Given the description of an element on the screen output the (x, y) to click on. 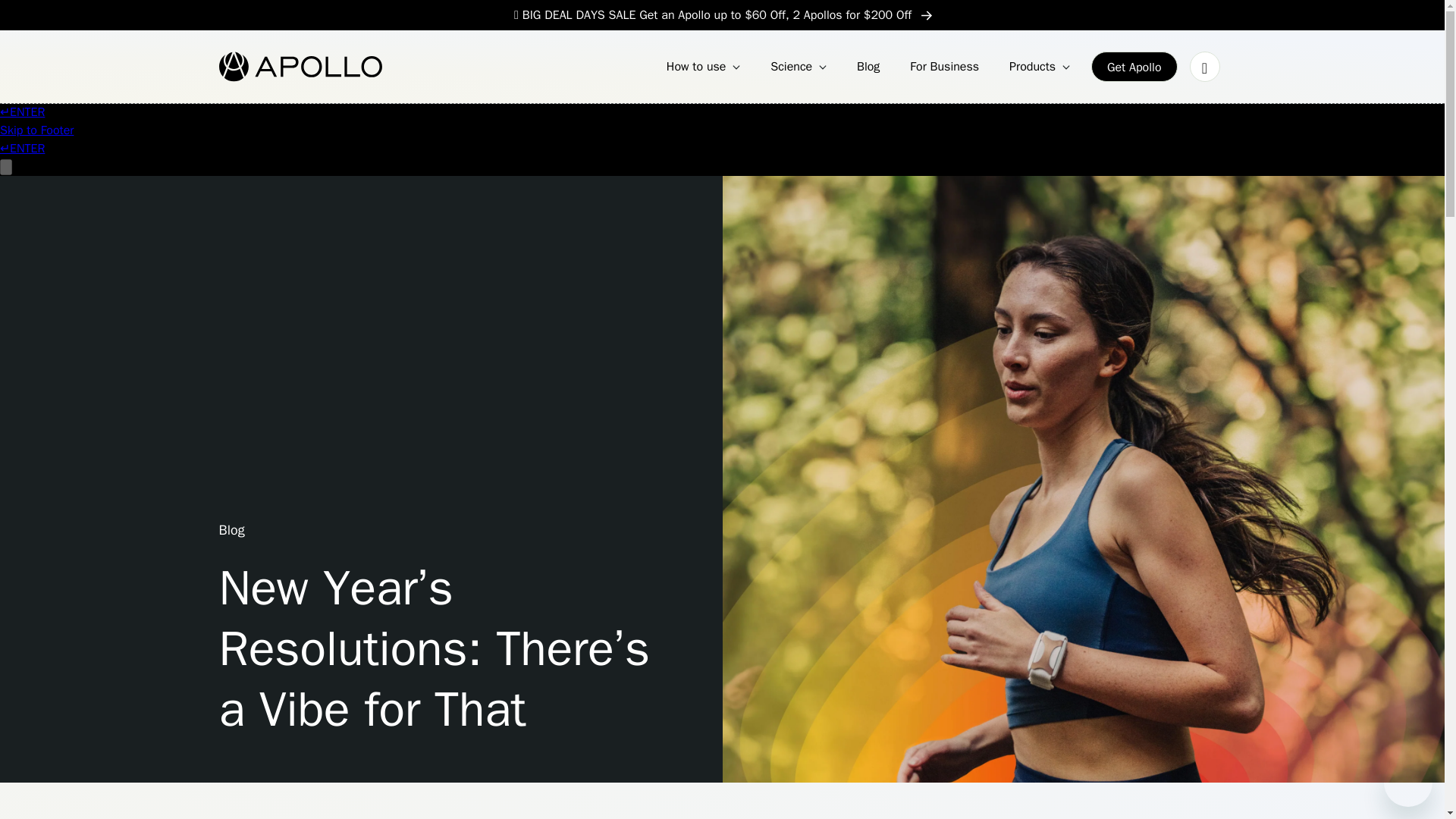
Right Arrow Icon. (927, 15)
Get Apollo (1133, 66)
Products Down Arrow Icon. (1039, 66)
Blog (867, 66)
For Business (944, 66)
Down Arrow Icon. (822, 67)
How to use Down Arrow Icon. (703, 66)
Science Down Arrow Icon. (798, 66)
